Given the description of an element on the screen output the (x, y) to click on. 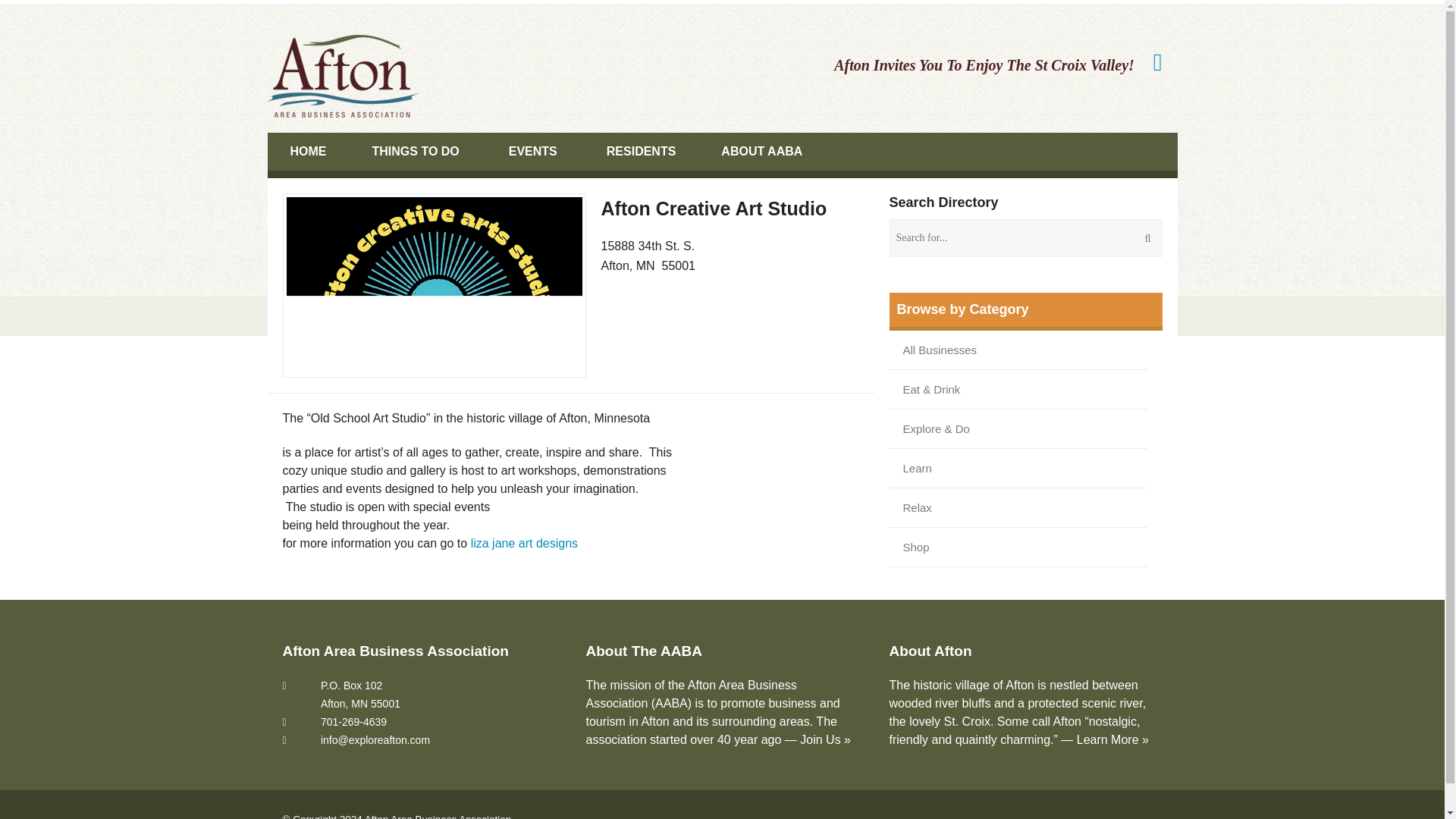
Search for... (1025, 238)
EVENTS (534, 151)
THINGS TO DO (416, 151)
RESIDENTS (640, 151)
All Businesses (940, 349)
ABOUT AABA (763, 151)
Relax (916, 507)
Learn (916, 467)
HOME (307, 151)
